Given the description of an element on the screen output the (x, y) to click on. 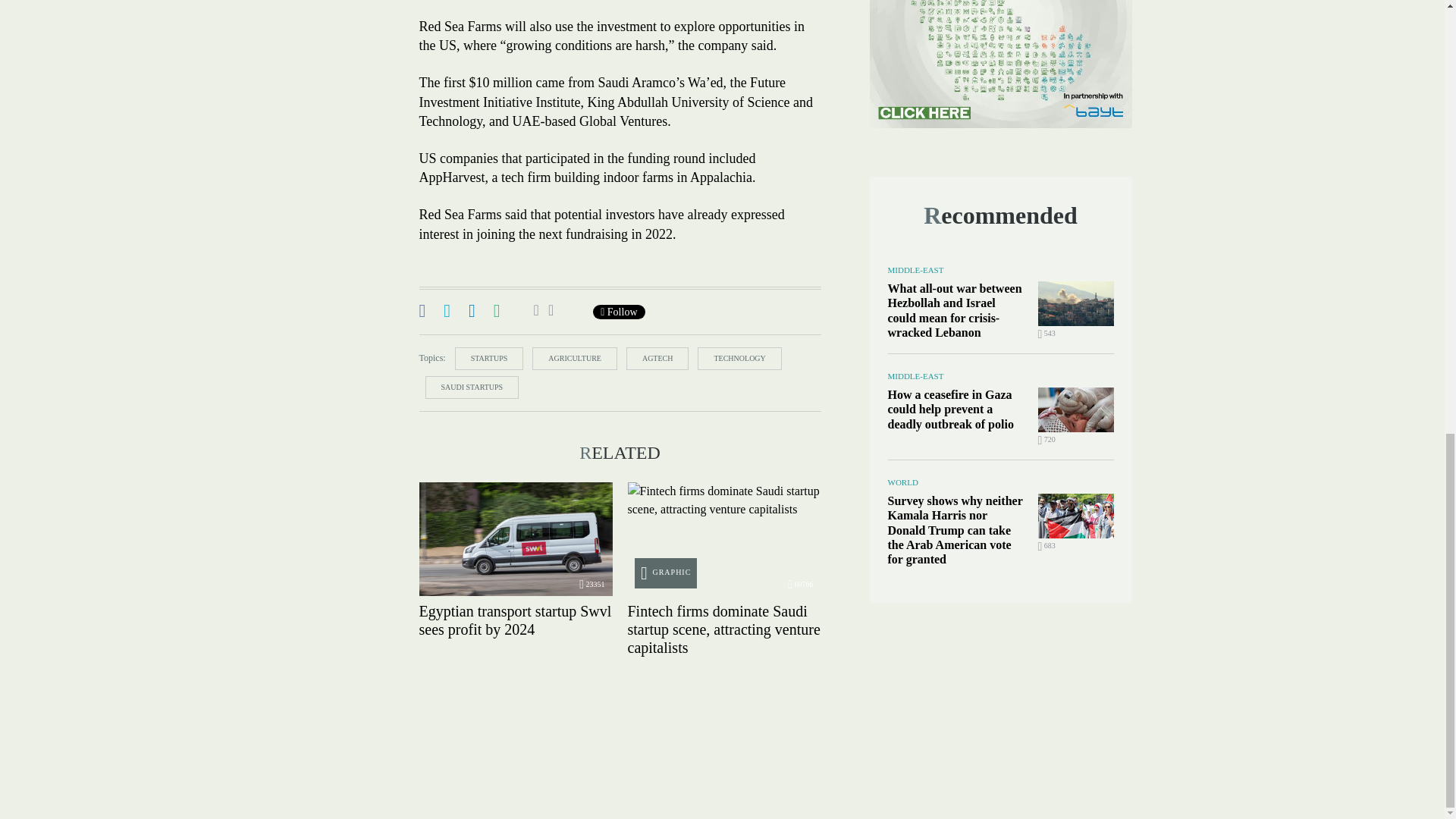
Egyptian transport startup Swvl sees profit by 2024 (515, 539)
